Given the description of an element on the screen output the (x, y) to click on. 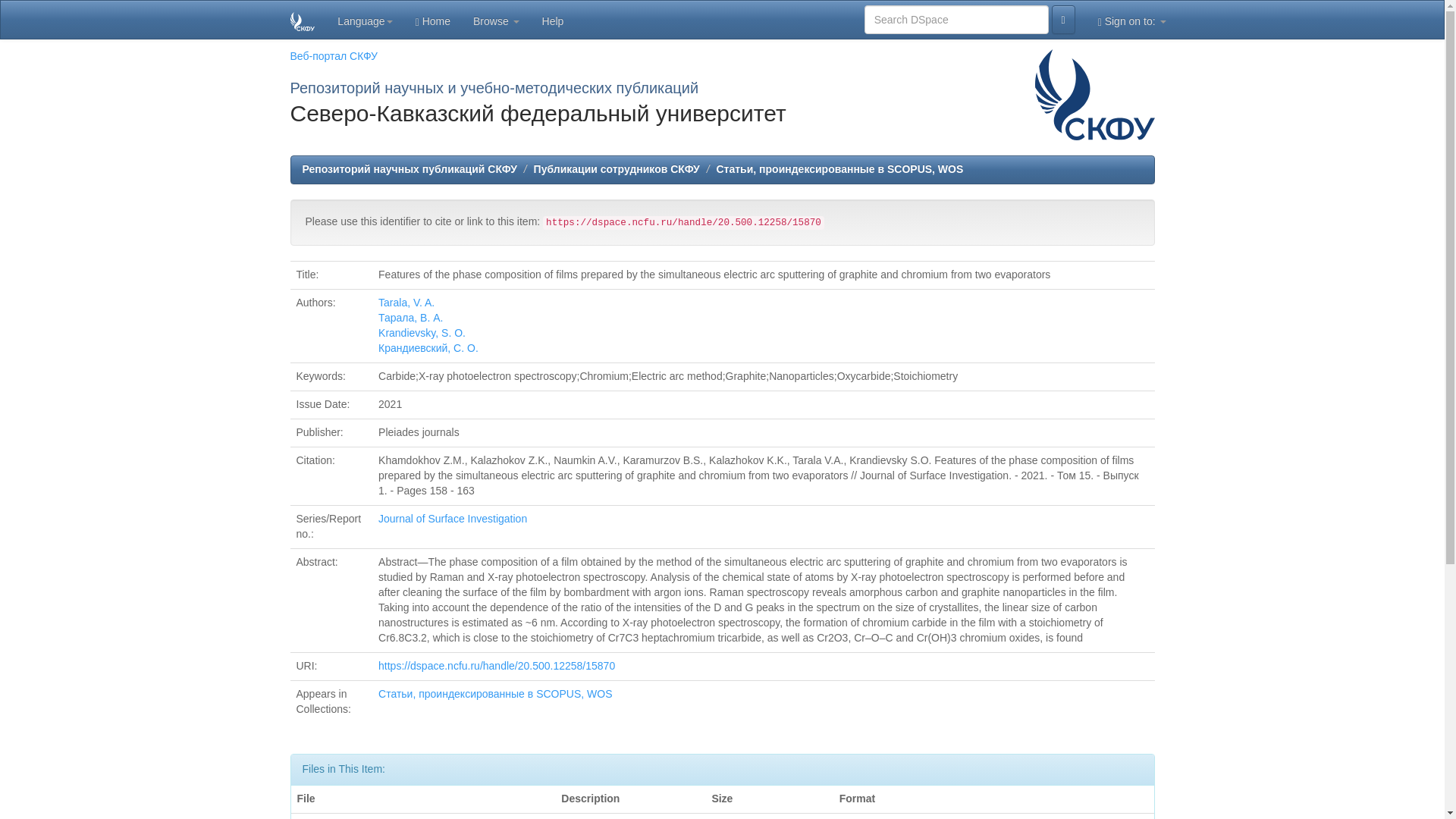
Sign on to: (1131, 19)
Language (364, 19)
Krandievsky, S. O. (421, 332)
Help (553, 19)
Tarala, V. A. (405, 302)
Journal of Surface Investigation (452, 518)
Home (432, 19)
Browse (496, 19)
